Given the description of an element on the screen output the (x, y) to click on. 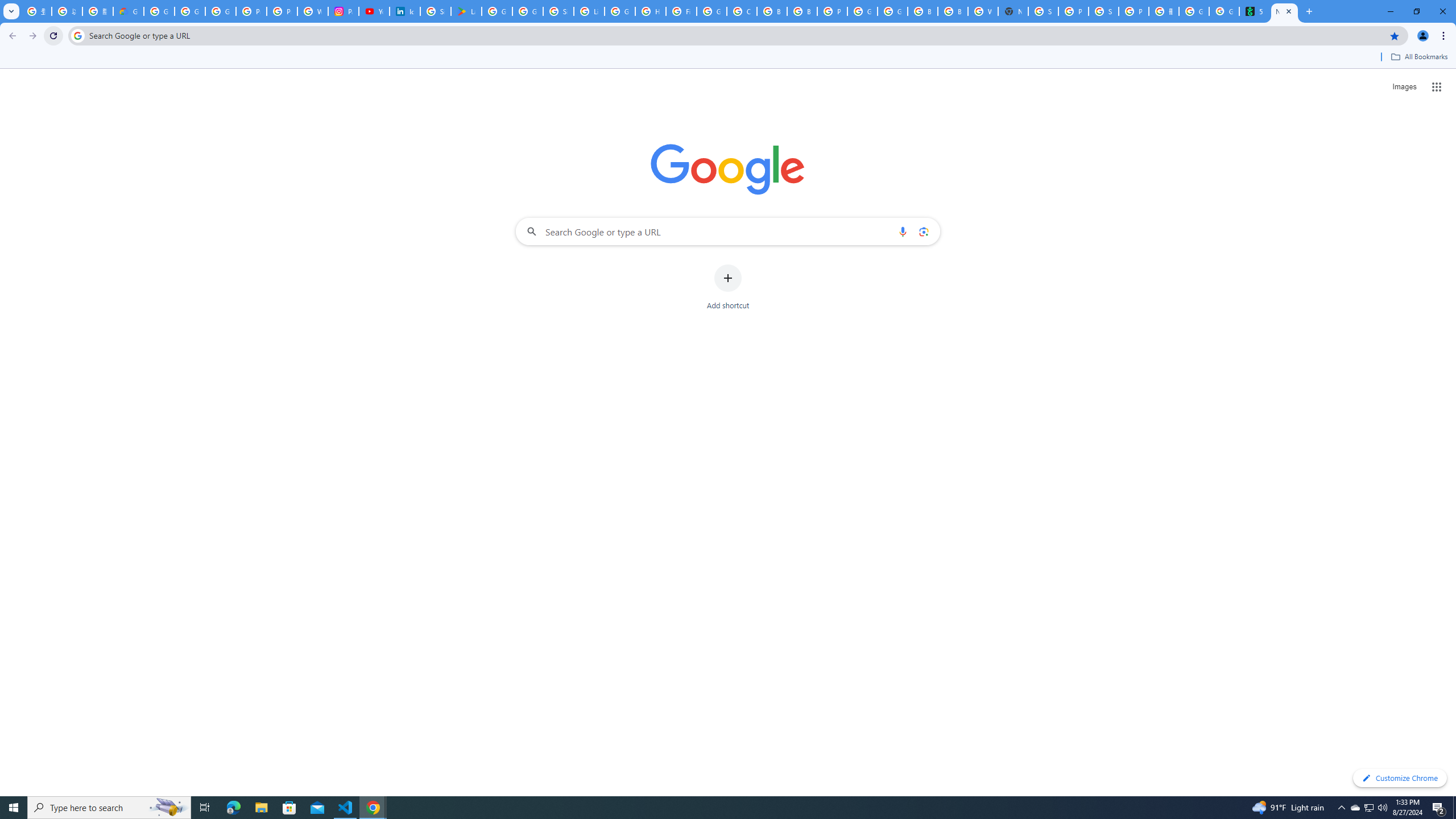
New Tab (1012, 11)
Search by image (922, 230)
Sign in - Google Accounts (558, 11)
Google Workspace - Specific Terms (527, 11)
Browse Chrome as a guest - Computer - Google Chrome Help (771, 11)
